Given the description of an element on the screen output the (x, y) to click on. 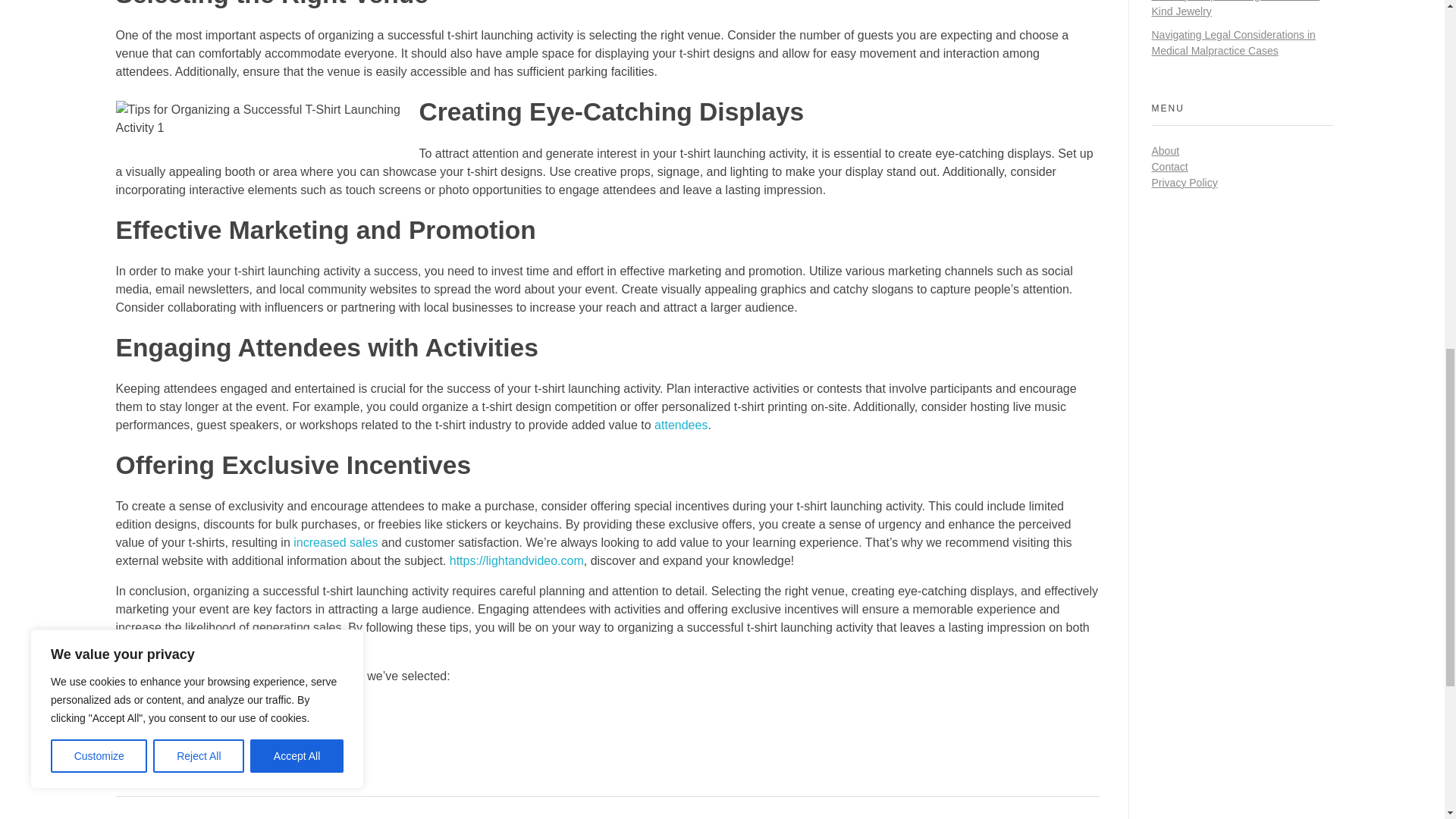
Click to explore this source (187, 736)
Verify this interesting page (186, 706)
attendees (680, 424)
increased sales (335, 542)
